Given the description of an element on the screen output the (x, y) to click on. 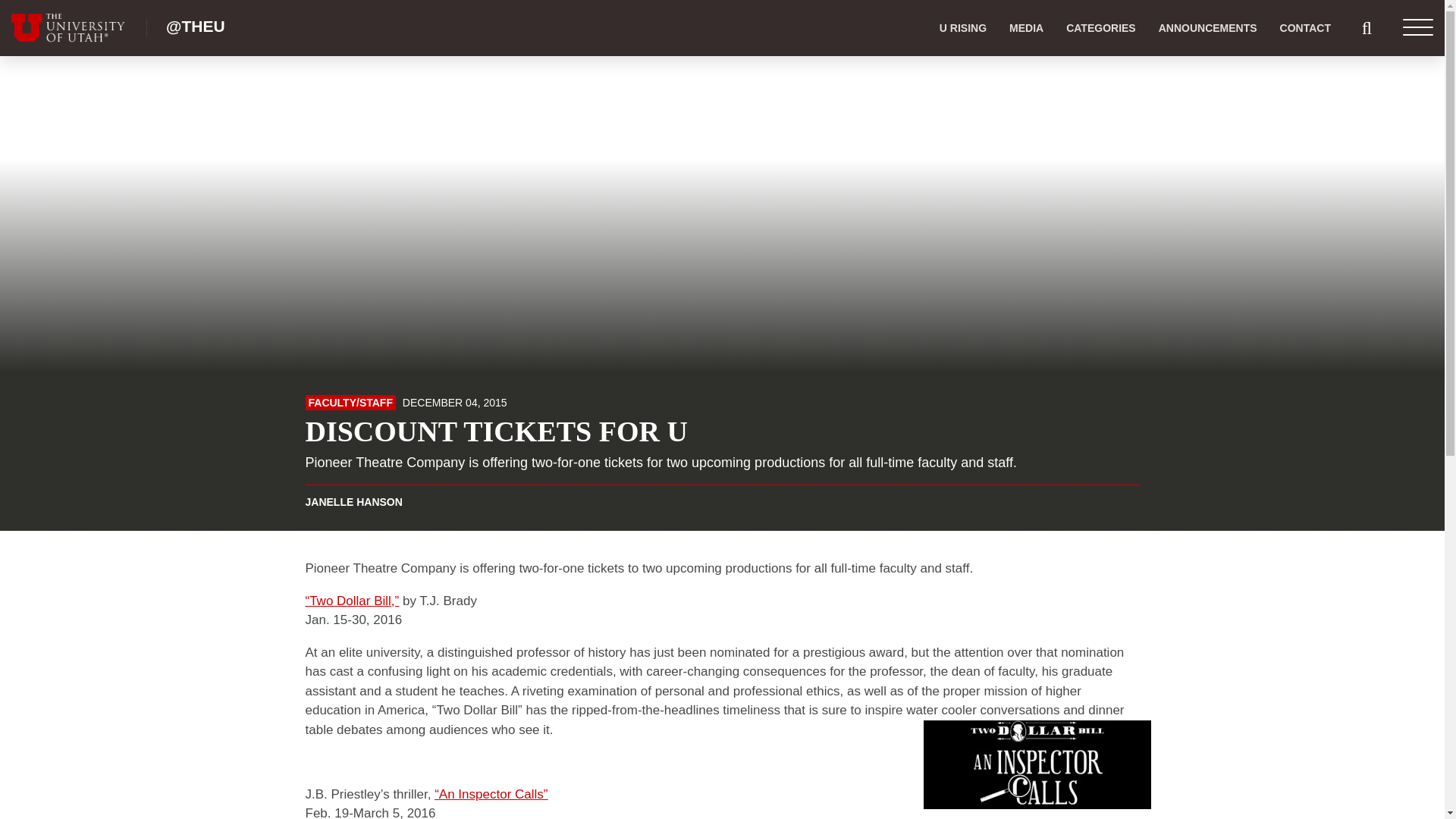
U RISING (962, 28)
CATEGORIES (1100, 28)
MEDIA (1025, 28)
